Given the description of an element on the screen output the (x, y) to click on. 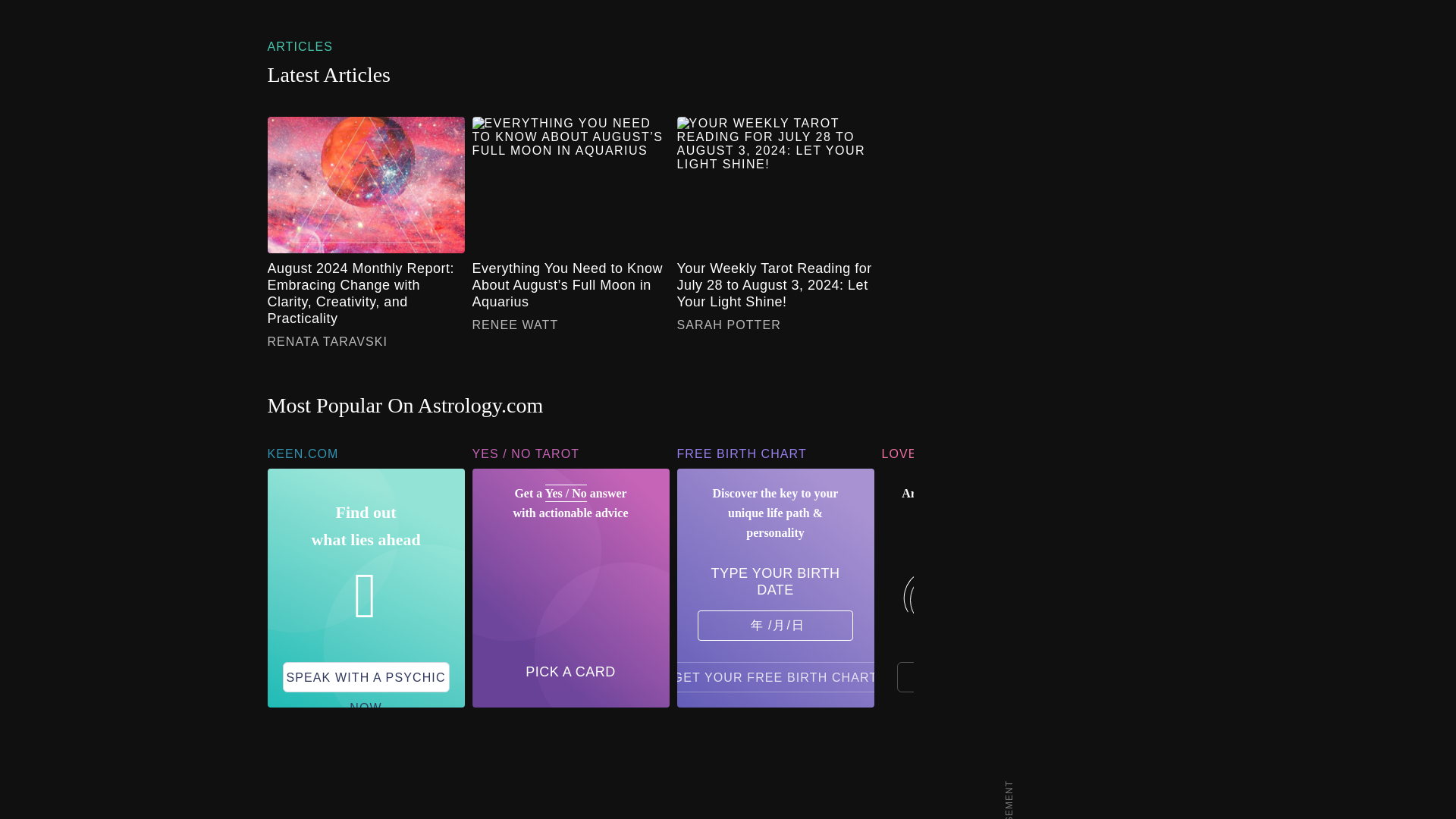
Get your free birth chart (775, 676)
